Given the description of an element on the screen output the (x, y) to click on. 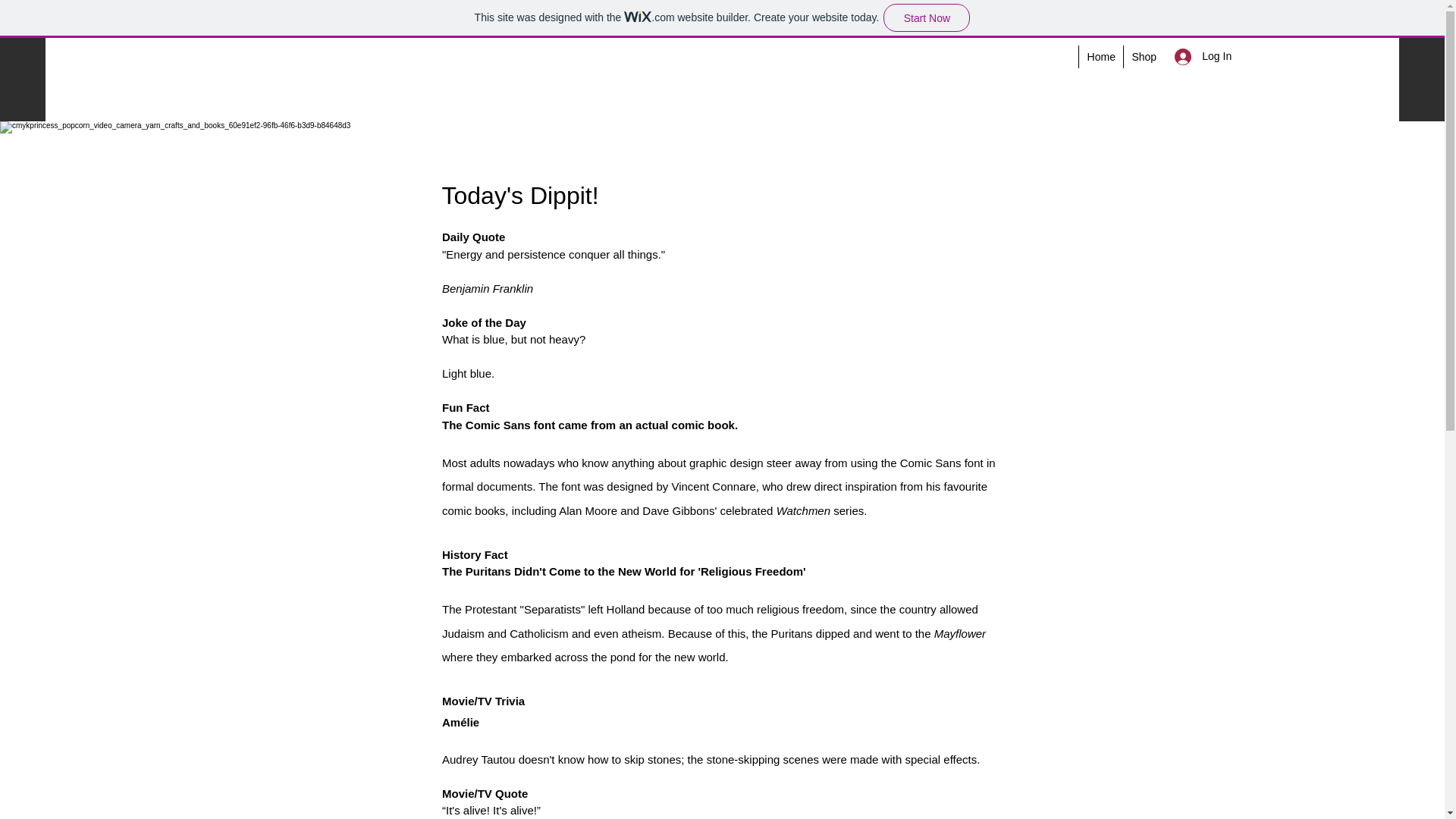
Log In (1185, 56)
designed by Vincent Connare (681, 486)
favourite comic books, (715, 497)
Home (1100, 56)
Shop (1142, 56)
